Given the description of an element on the screen output the (x, y) to click on. 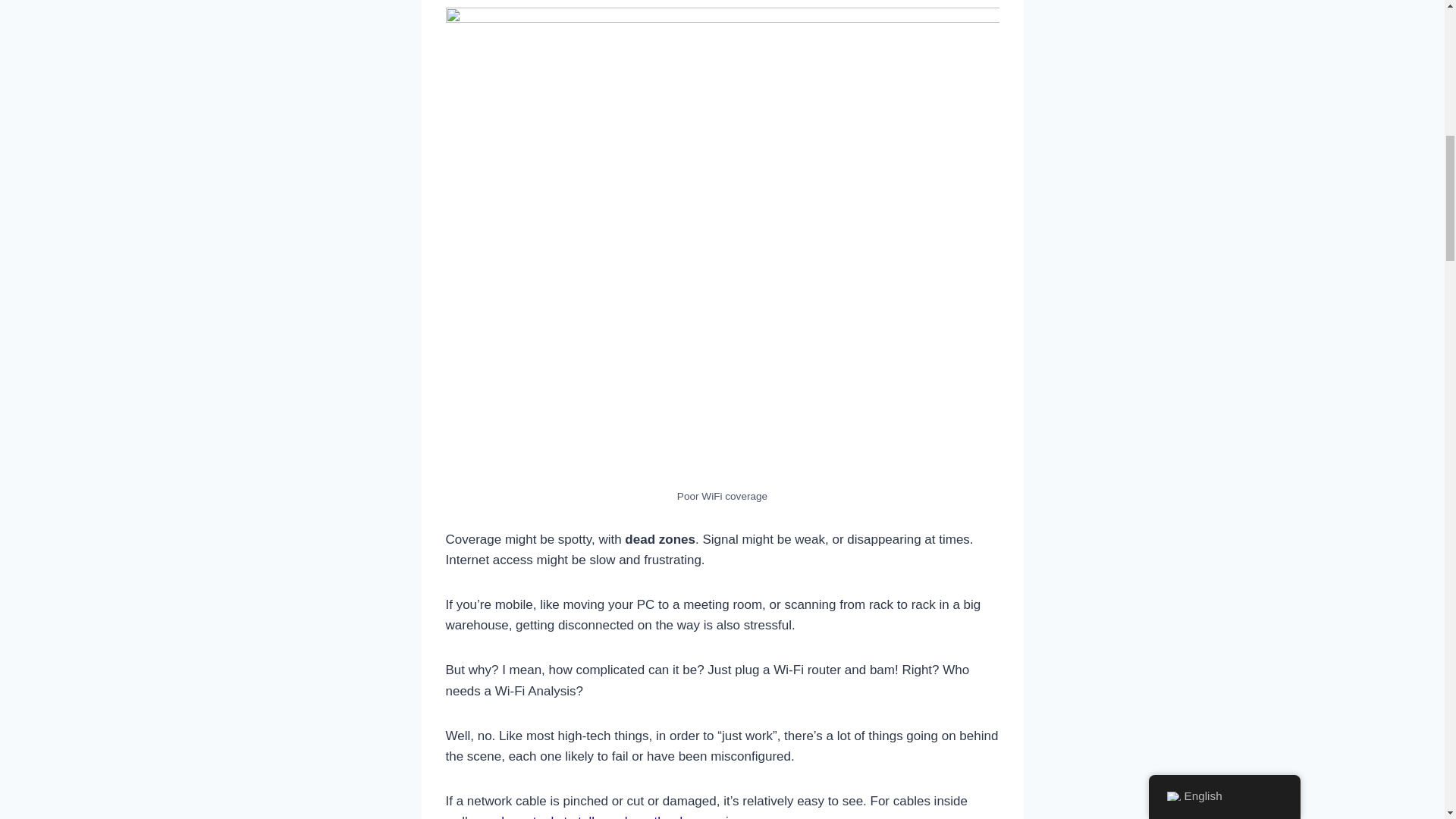
we have tools to tell us where the damage is (608, 816)
